Given the description of an element on the screen output the (x, y) to click on. 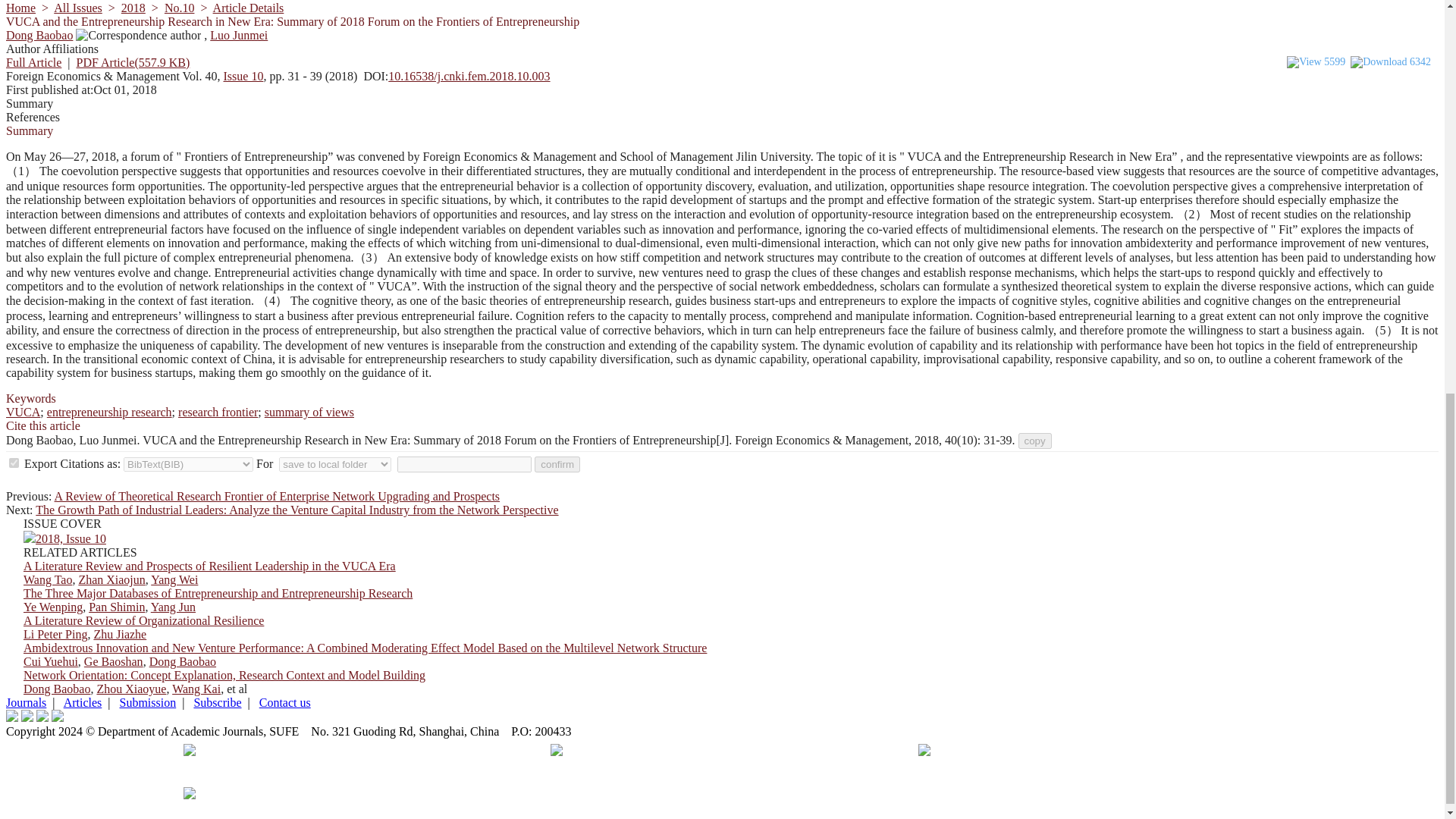
confirm (556, 464)
All Issues of our journal (77, 7)
View articles of the same author (238, 34)
Correspondence author (137, 35)
on (13, 462)
View (1303, 61)
View articles of the same author (38, 34)
